Given the description of an element on the screen output the (x, y) to click on. 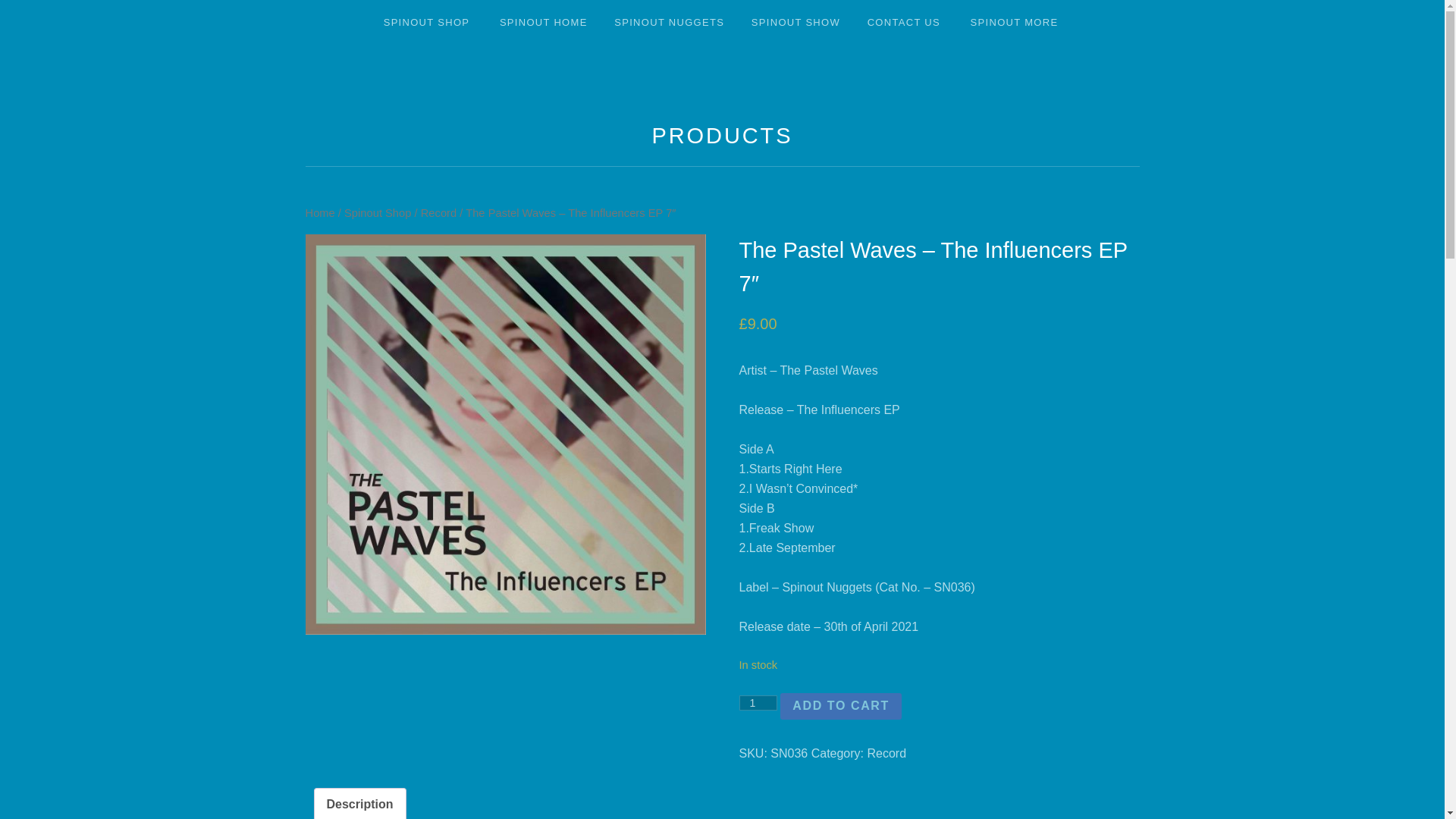
PRODUCTS (722, 135)
1 (757, 702)
CONTACT US (905, 22)
SPINOUT HOME (543, 22)
SPINOUT SHOP (427, 22)
SPINOUT MORE (1016, 22)
SPINOUT PRODUCTIONS (582, 96)
Description (359, 803)
Spinout Shop (376, 213)
Record (885, 753)
Home (319, 213)
ADD TO CART (840, 706)
SPINOUT SHOW (795, 22)
SPINOUT NUGGETS (669, 22)
